Given the description of an element on the screen output the (x, y) to click on. 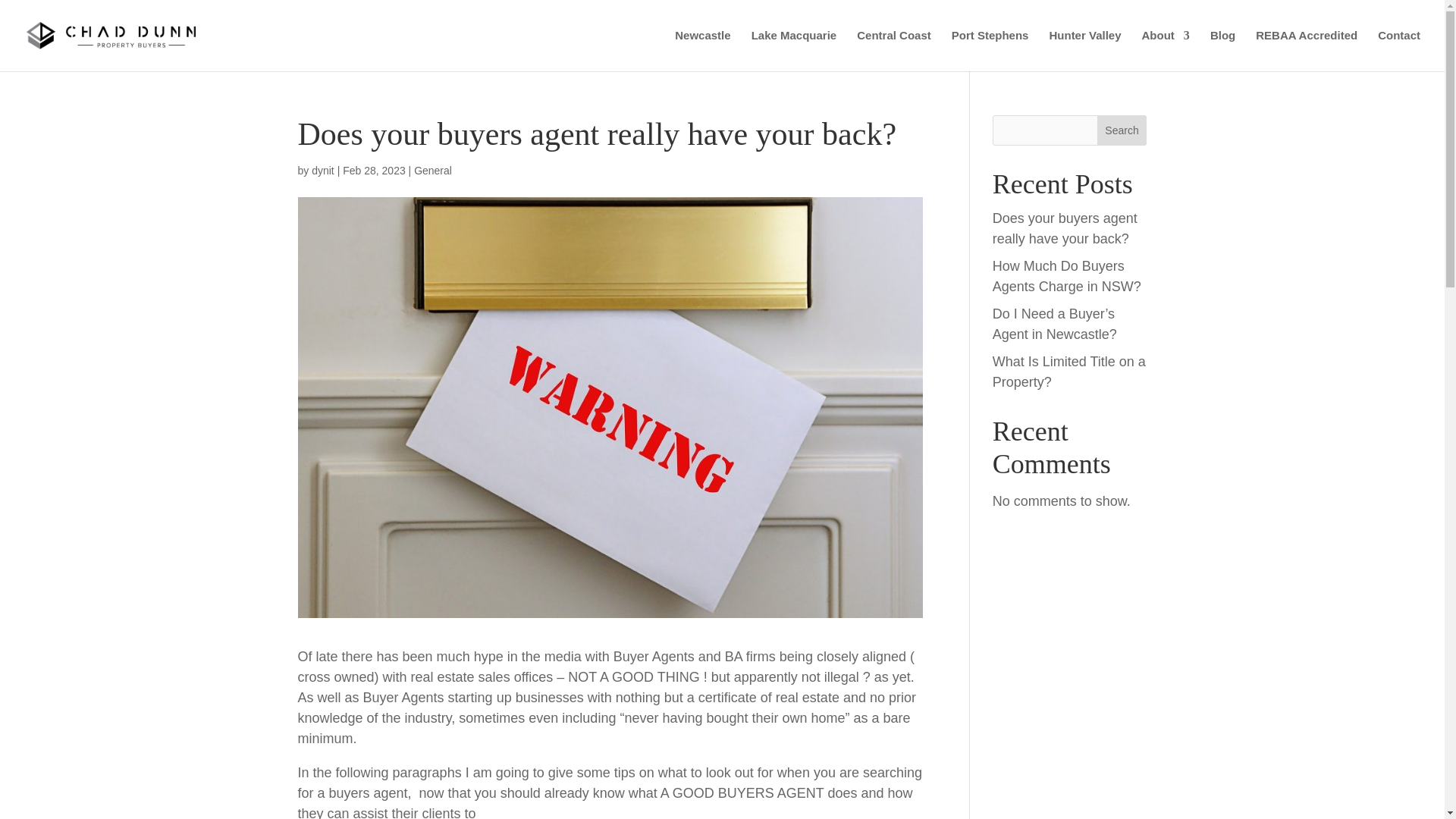
Port Stephens (990, 50)
dynit (322, 170)
Newcastle (702, 50)
Does your buyers agent really have your back? (1064, 228)
Contact (1399, 50)
Lake Macquarie (794, 50)
How Much Do Buyers Agents Charge in NSW? (1066, 276)
REBAA Accredited (1305, 50)
General (432, 170)
Central Coast (894, 50)
About (1165, 50)
Hunter Valley (1084, 50)
Posts by dynit (322, 170)
What Is Limited Title on a Property? (1068, 371)
Search (1122, 130)
